Given the description of an element on the screen output the (x, y) to click on. 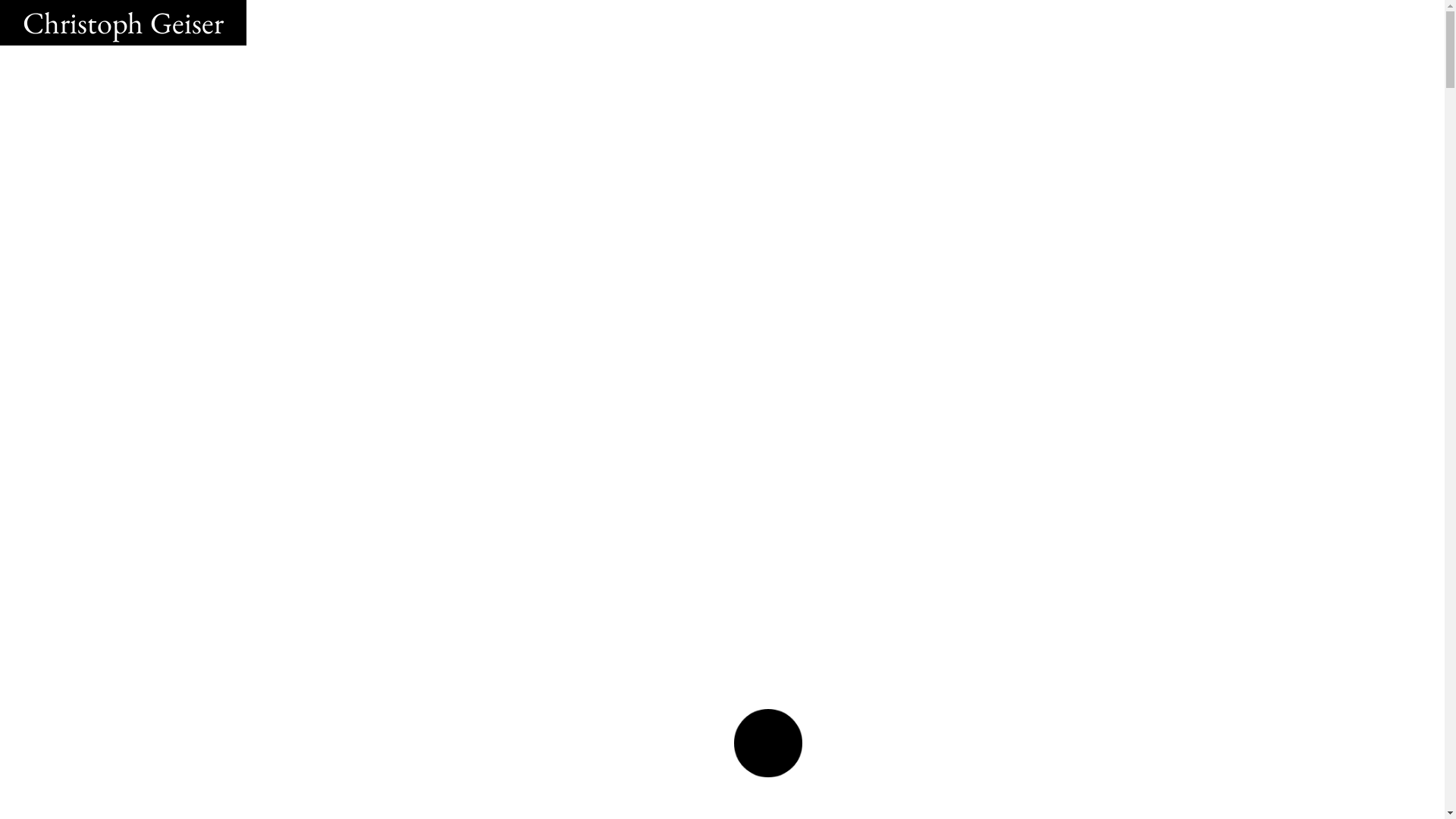
START Element type: text (768, 743)
